Given the description of an element on the screen output the (x, y) to click on. 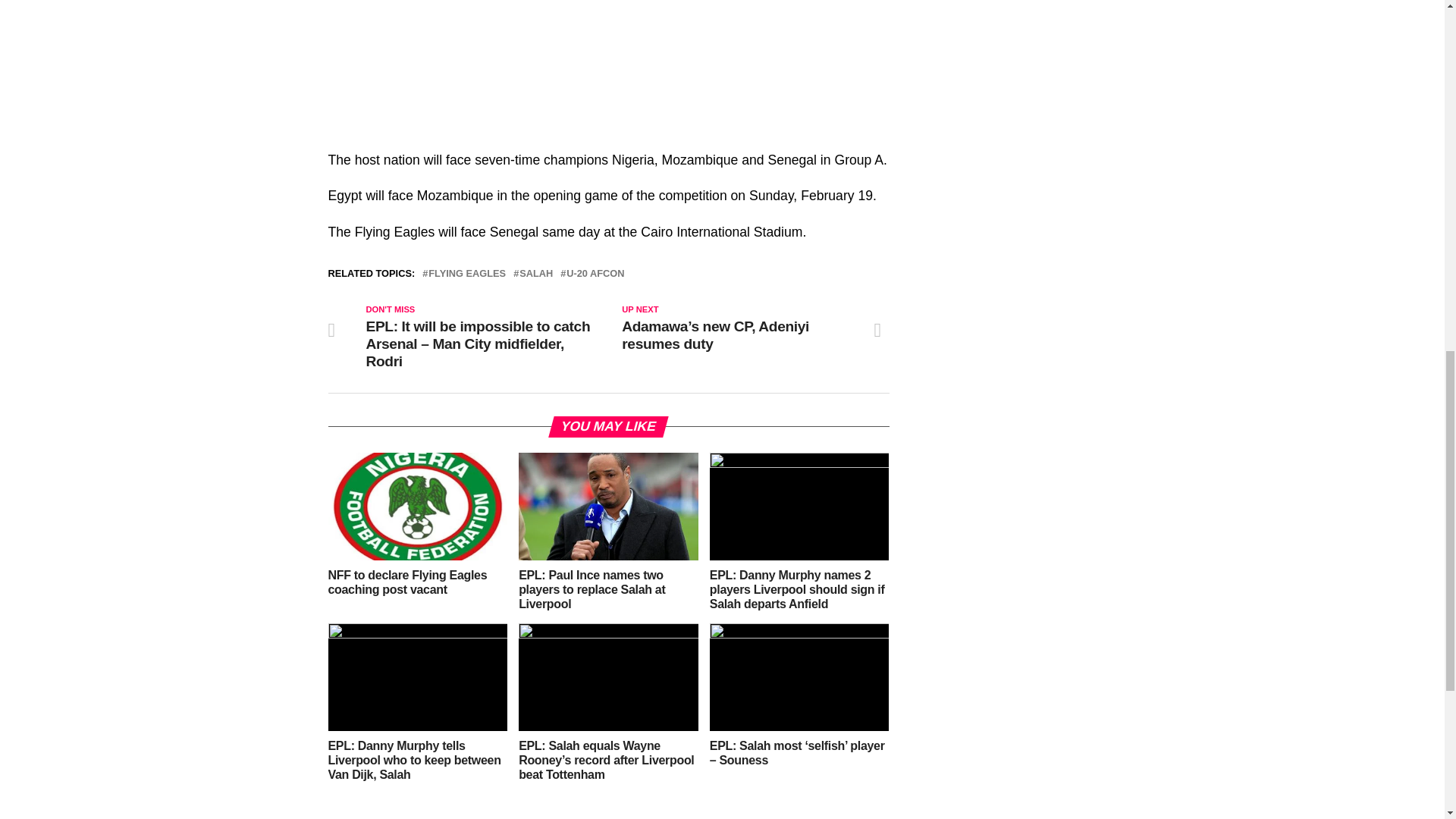
U-20 AFCON (595, 274)
FLYING EAGLES (466, 274)
SALAH (536, 274)
